Given the description of an element on the screen output the (x, y) to click on. 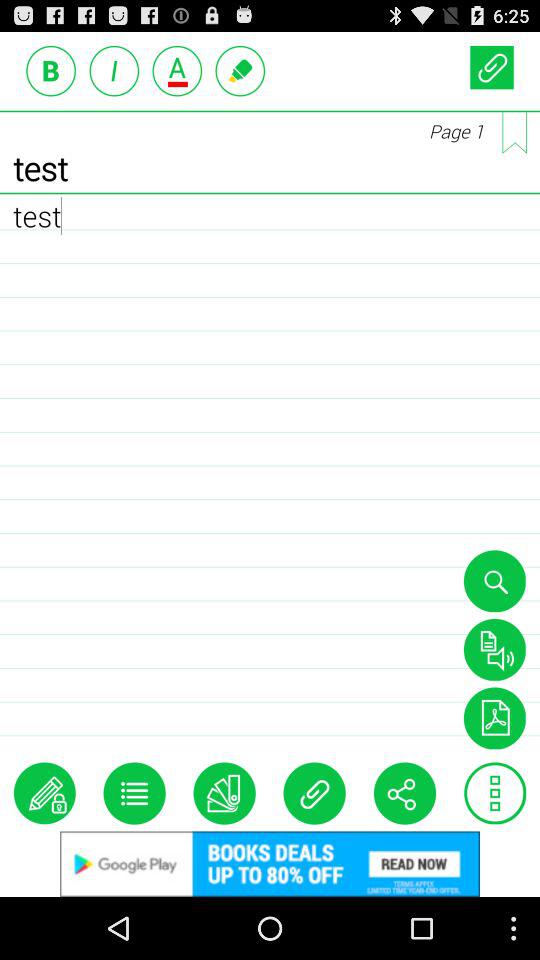
mark this page (514, 132)
